Given the description of an element on the screen output the (x, y) to click on. 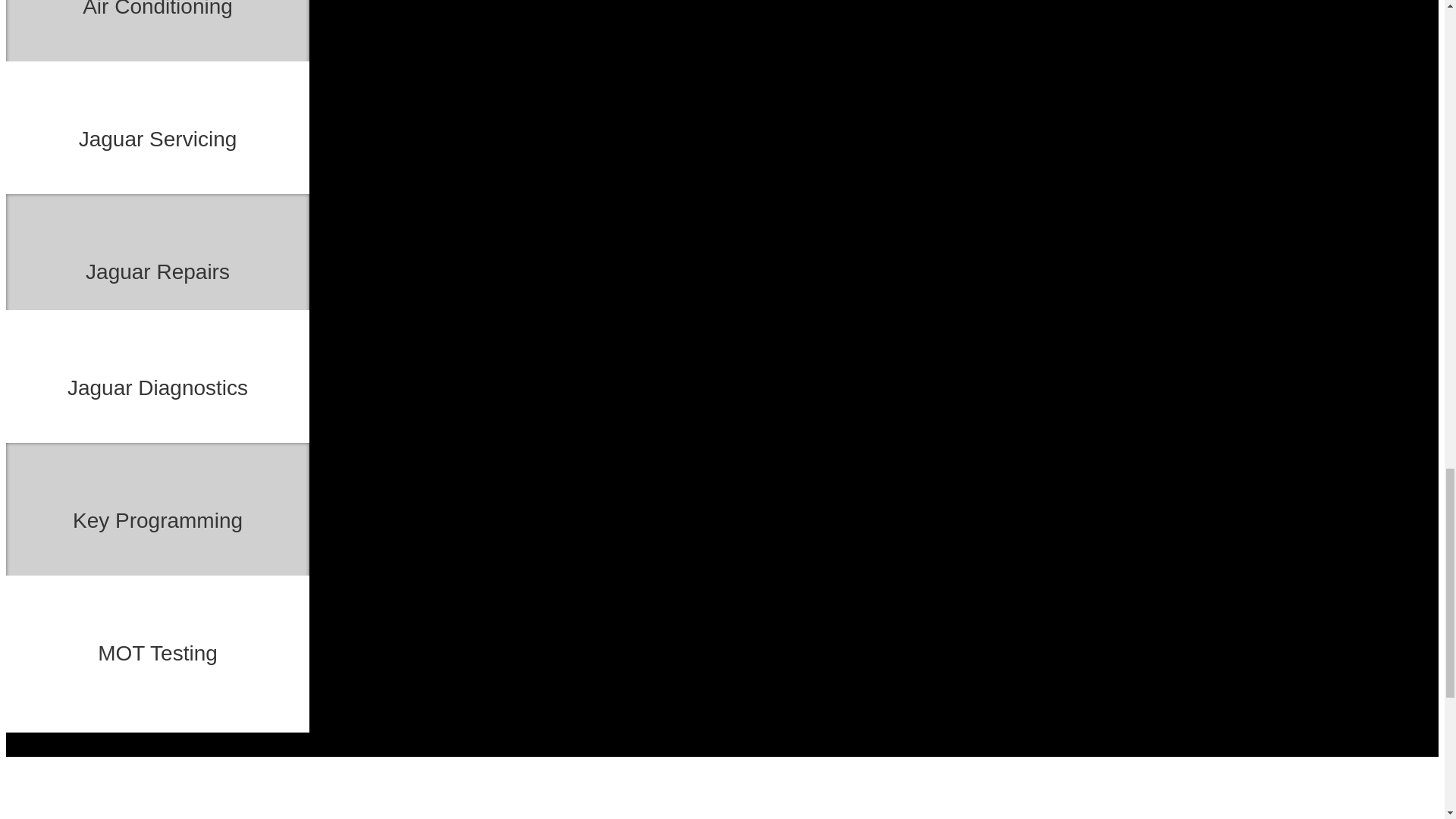
Key Programming (156, 509)
Air Conditioning (156, 30)
Jaguar Repairs Snitterfield, Stratford-upon-avon, Warwick (156, 260)
MOT Testing Warwickshire (156, 641)
Jaguar Key Programming Warwickshire (156, 509)
Jaguar Repairs (156, 260)
Jaguar Diagnostics (156, 376)
Jaguar Servicing (156, 127)
